Given the description of an element on the screen output the (x, y) to click on. 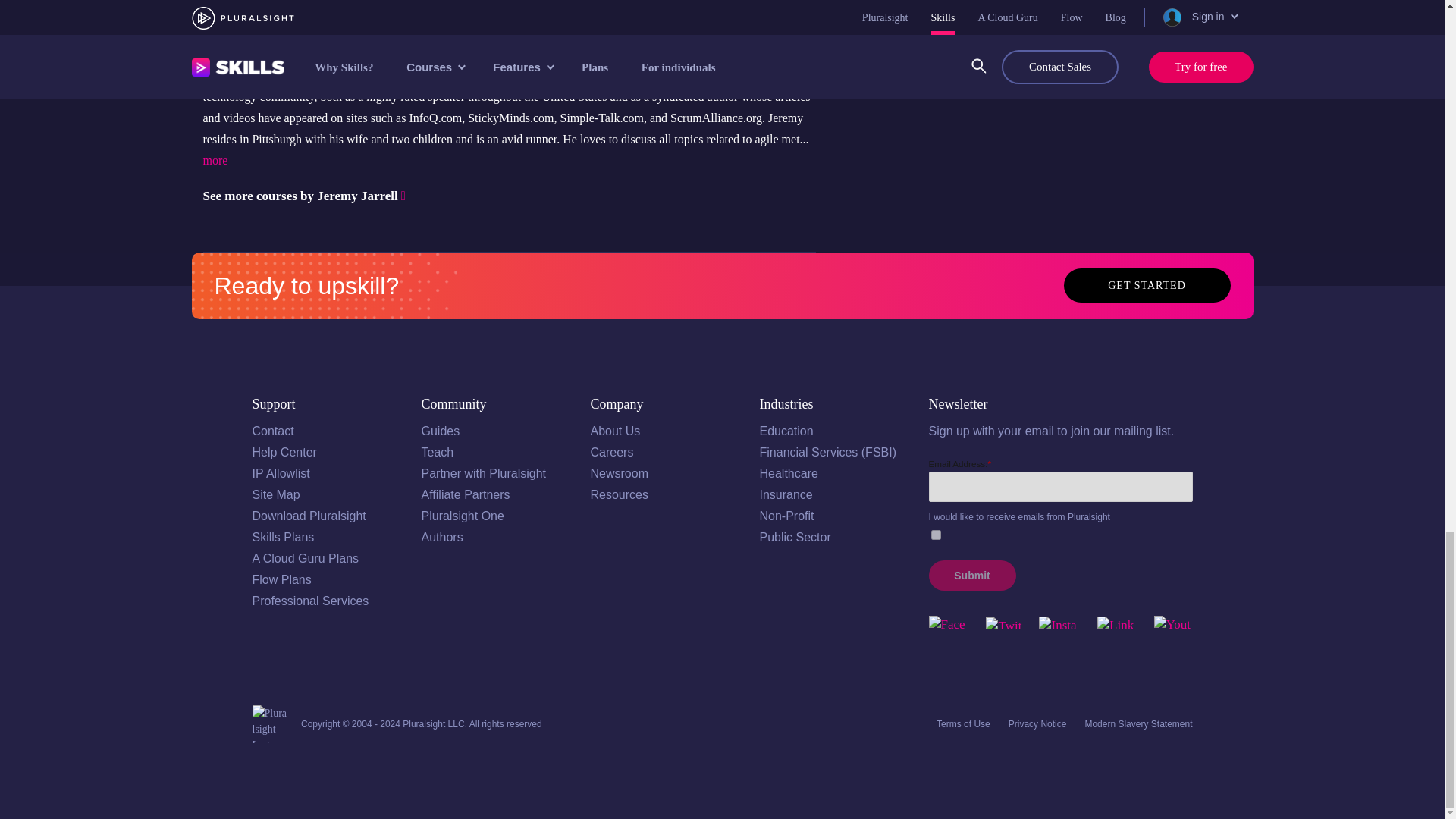
yes (935, 534)
Get started (1146, 285)
